Given the description of an element on the screen output the (x, y) to click on. 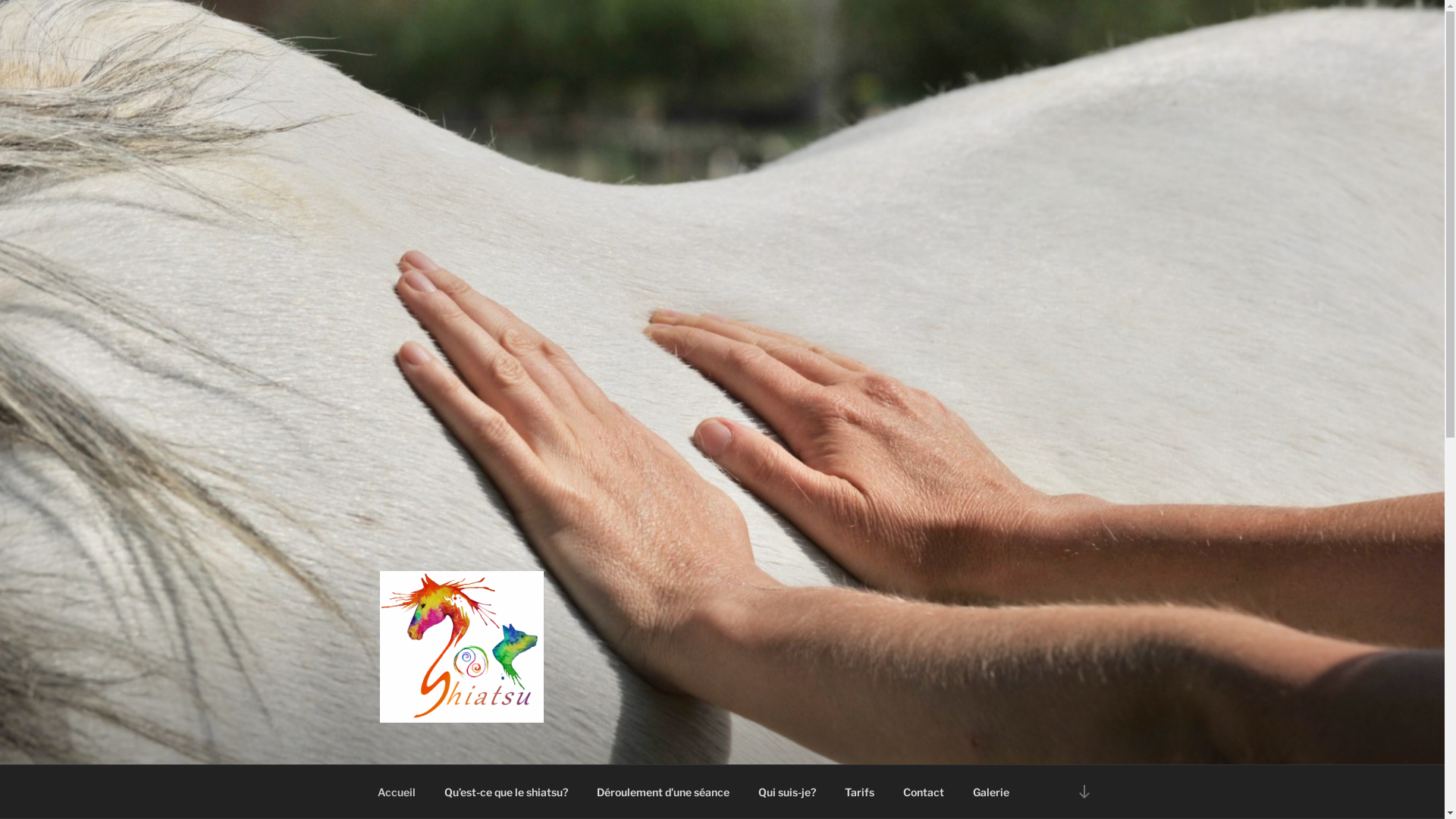
Aller au contenu principal Element type: text (0, 0)
Contact Element type: text (923, 791)
Galerie Element type: text (991, 791)
Accueil Element type: text (396, 791)
Qui suis-je? Element type: text (786, 791)
SHIATSU POUR CHEVAUX Element type: text (575, 744)
Descendre au contenu Element type: text (1083, 790)
Tarifs Element type: text (859, 791)
